Given the description of an element on the screen output the (x, y) to click on. 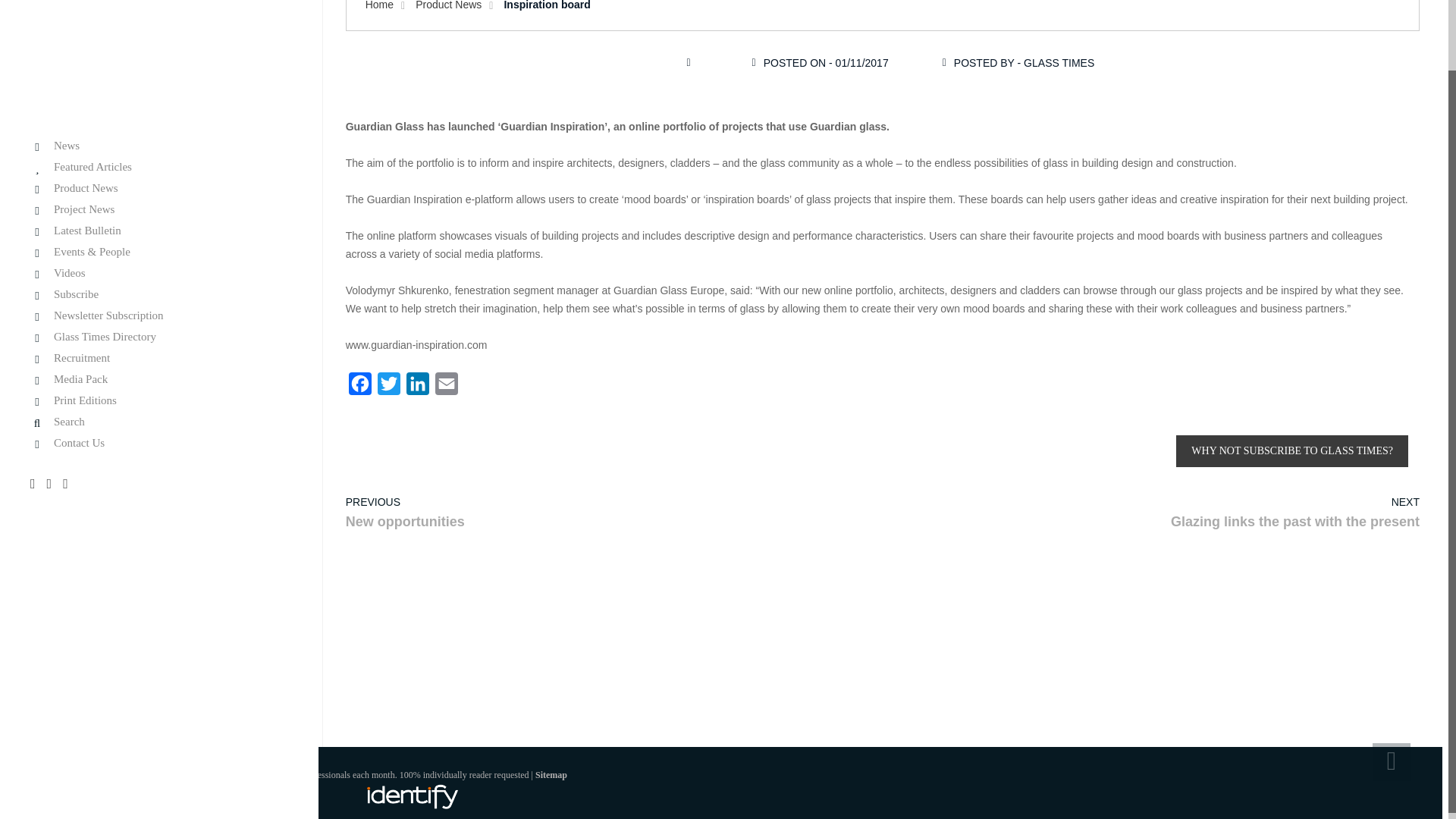
Project News (159, 131)
Glass Times Directory (159, 258)
Subscribe (159, 215)
Latest Bulletin (159, 152)
Search (159, 343)
Contact Us (159, 364)
Featured Articles (159, 88)
Product News (159, 110)
Recruitment (159, 279)
Media Pack (159, 300)
Print Editions (159, 322)
Newsletter Subscription (159, 237)
Videos (159, 195)
News (159, 67)
Glass Times - The industrys leading trade journal (112, 19)
